Given the description of an element on the screen output the (x, y) to click on. 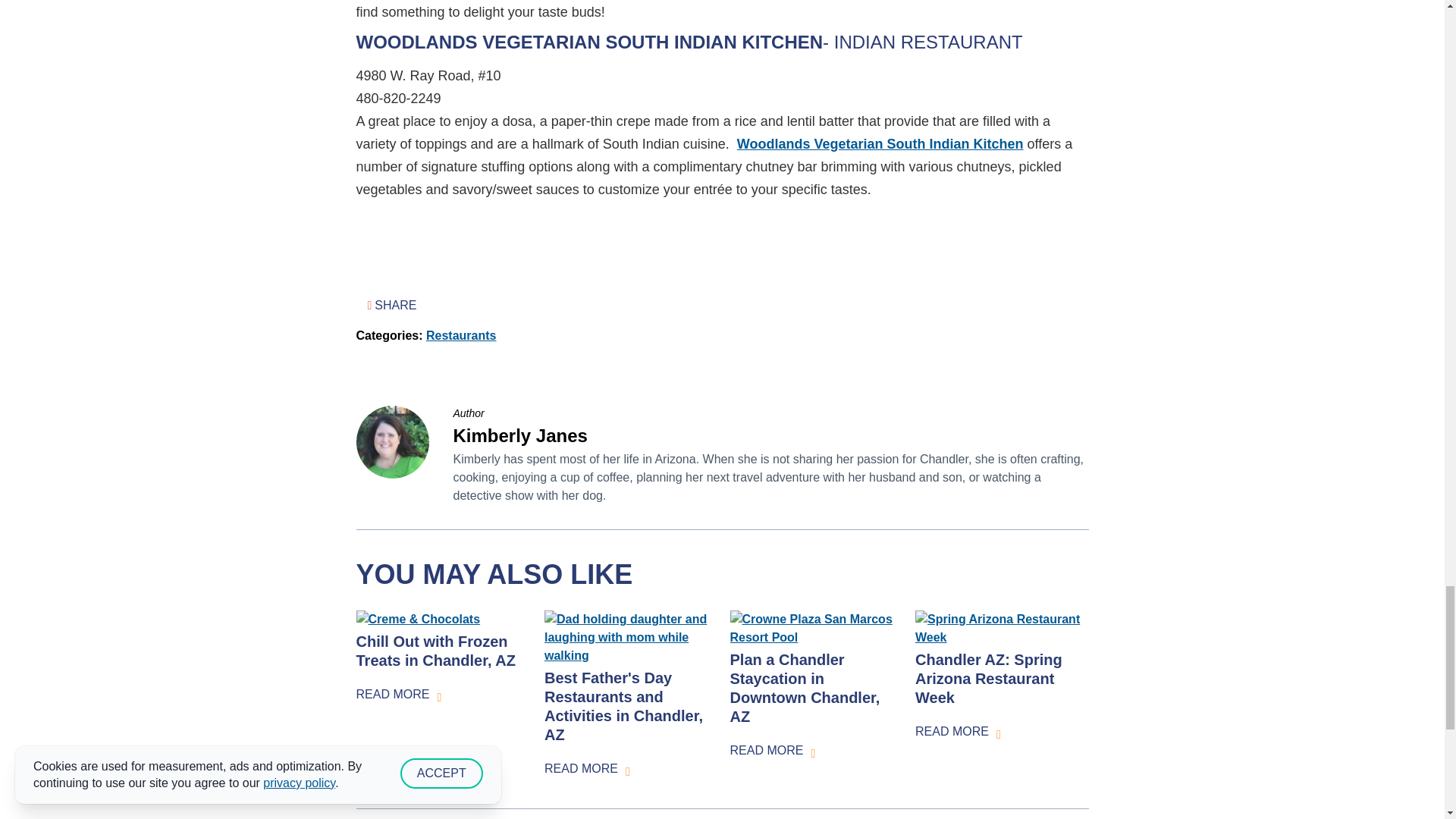
Woodlands Vegetarian South Indian Kitchen in Chandler, AZ (879, 143)
